Given the description of an element on the screen output the (x, y) to click on. 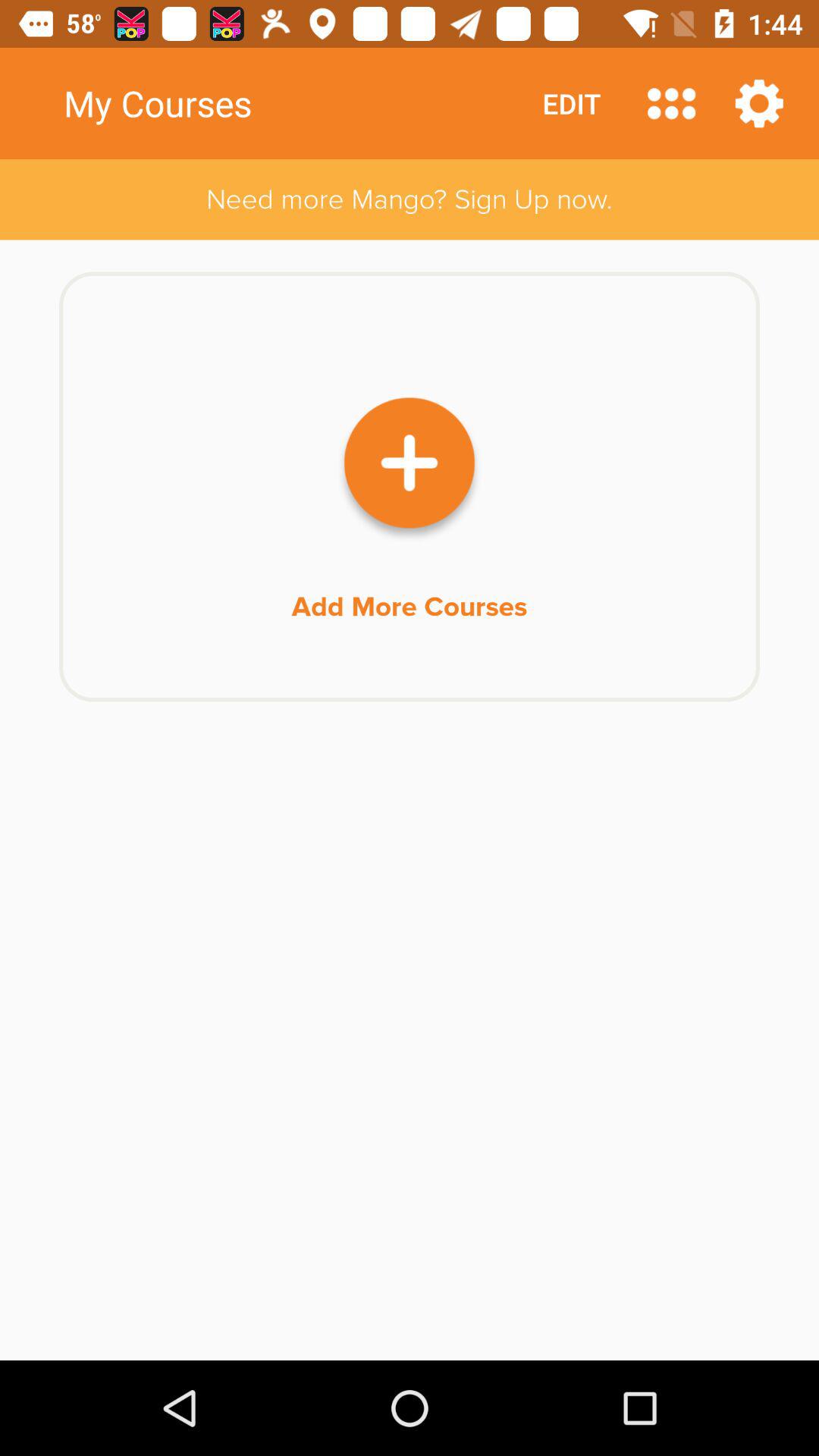
turn off the item next to the my courses (671, 103)
